Given the description of an element on the screen output the (x, y) to click on. 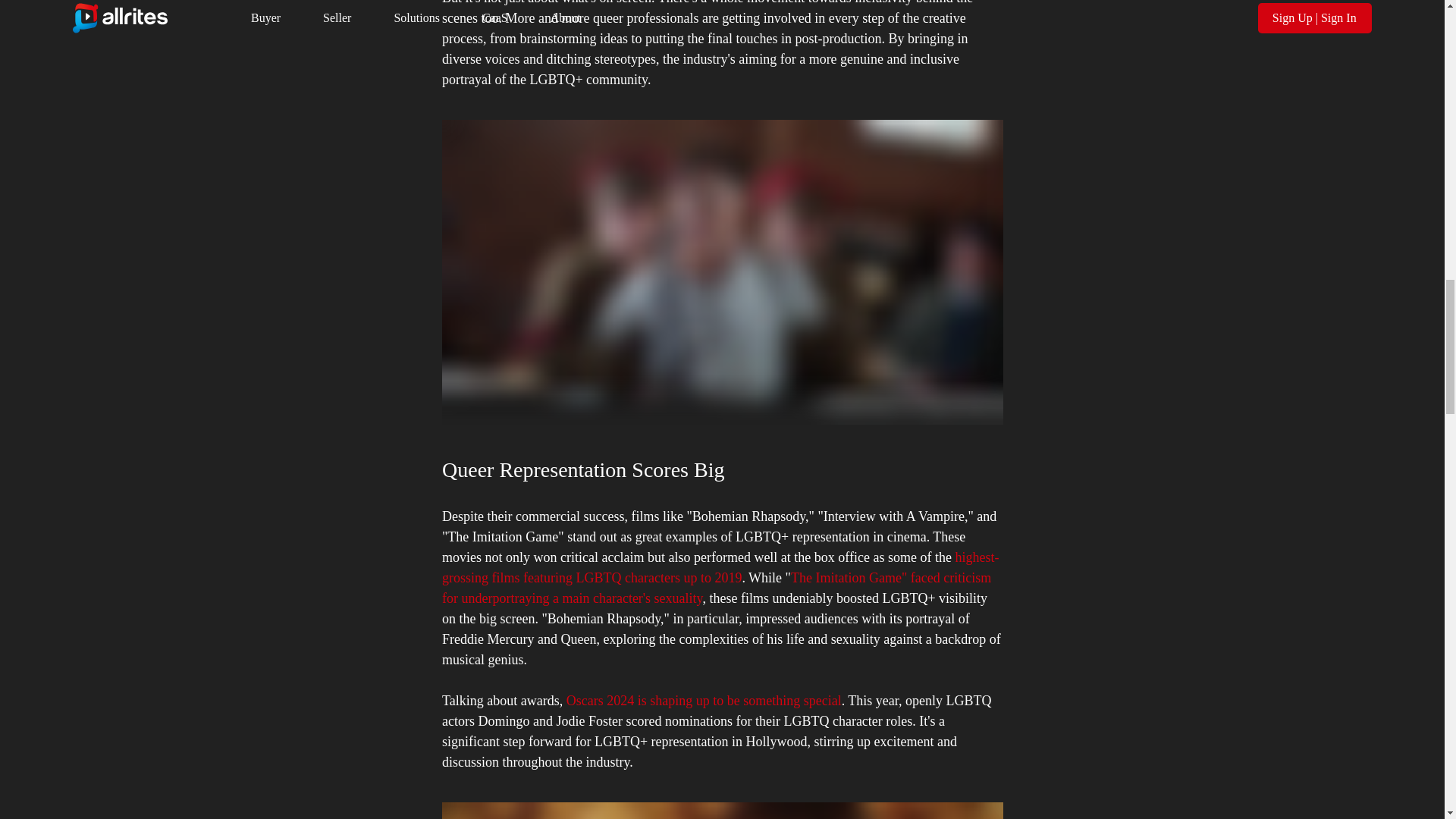
Oscars 2024 is shaping up to be something special (703, 700)
highest-grossing films featuring LGBTQ characters up to 2019 (719, 567)
